Given the description of an element on the screen output the (x, y) to click on. 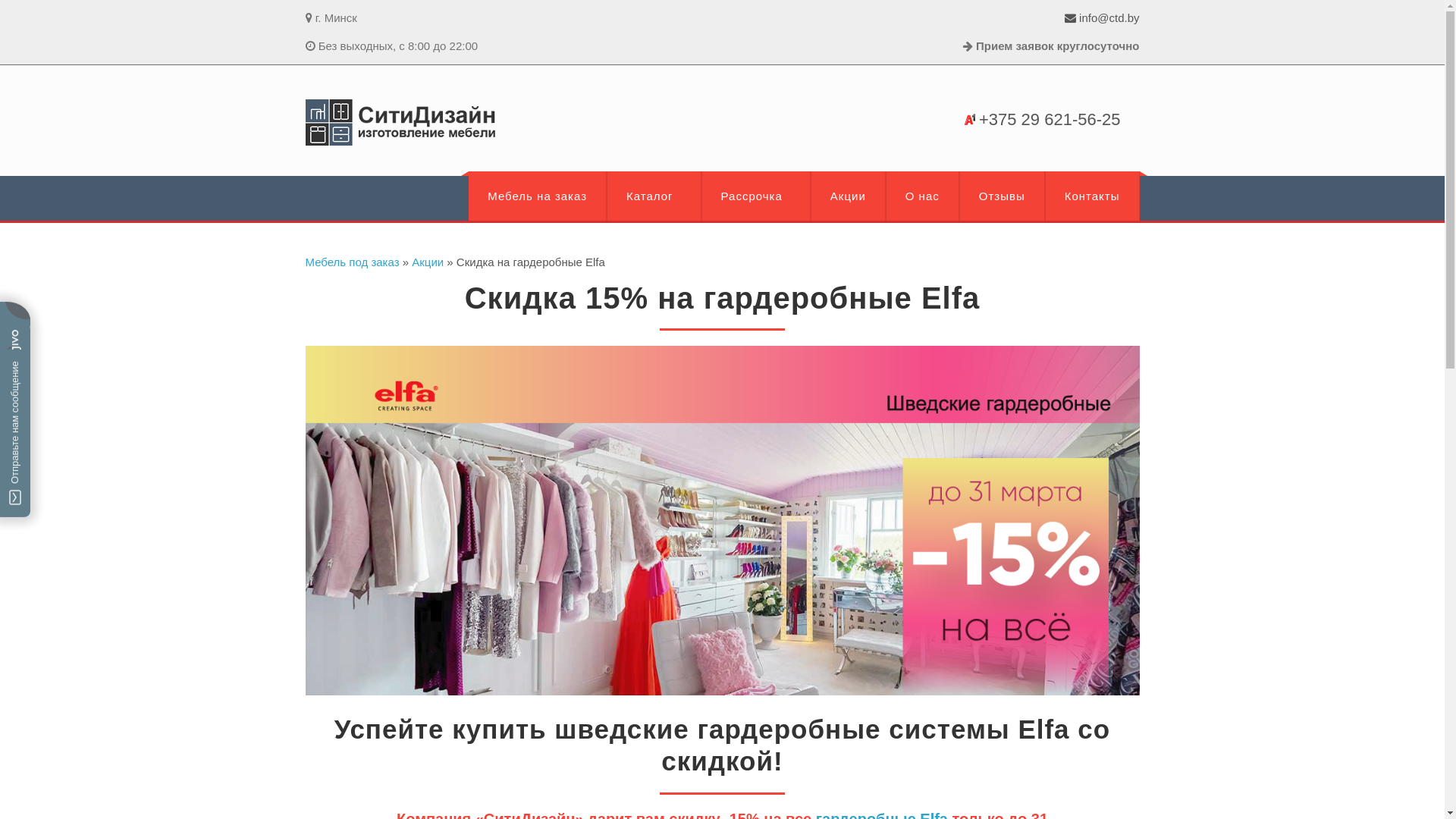
+375 29 621-56-25 Element type: text (1049, 118)
info@ctd.by Element type: text (1101, 17)
